Given the description of an element on the screen output the (x, y) to click on. 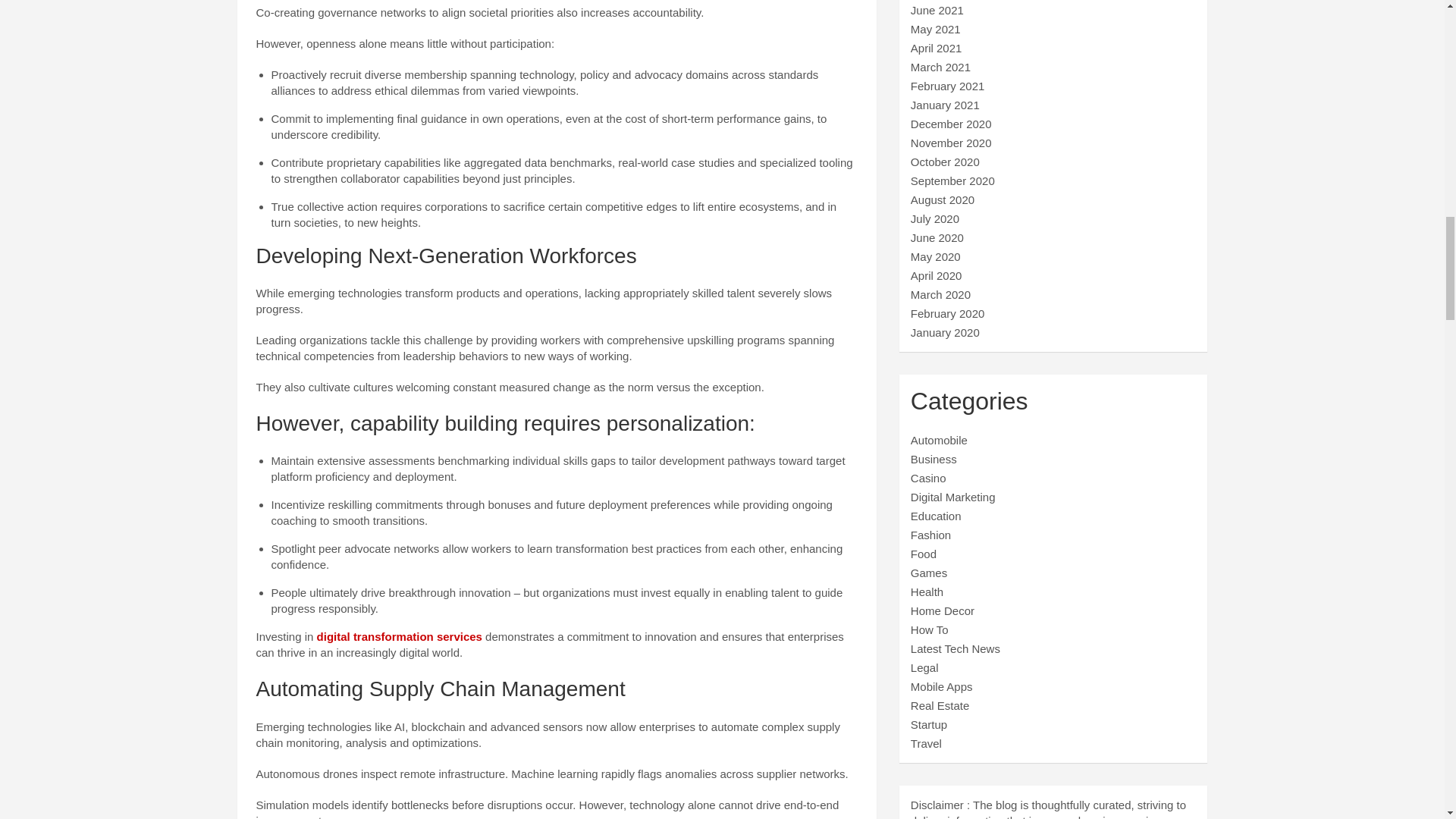
digital transformation services (399, 635)
